Given the description of an element on the screen output the (x, y) to click on. 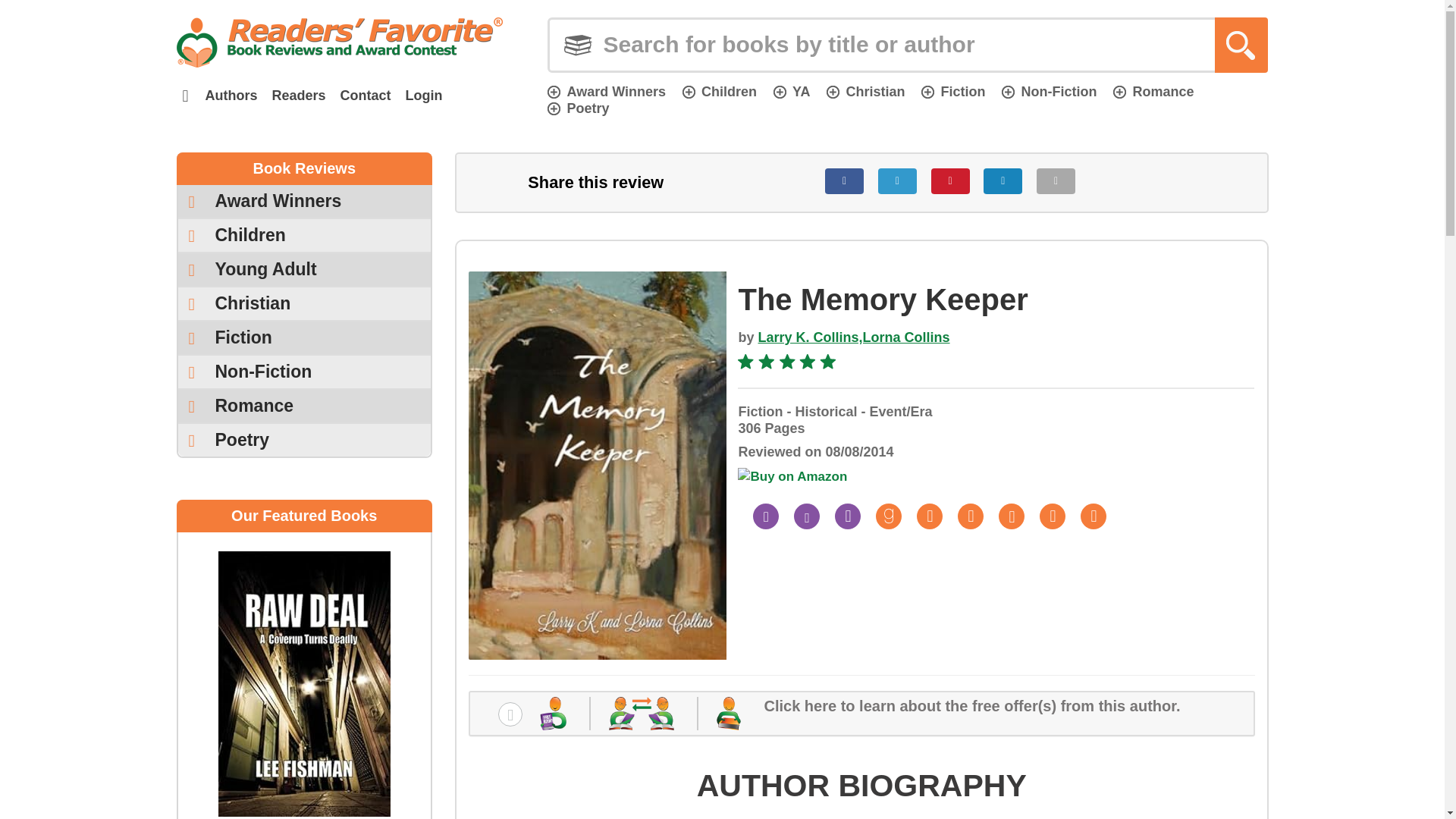
Poetry (577, 108)
Award Winners (606, 91)
Authors (230, 96)
Award Winners (303, 202)
Non-Fiction (1048, 91)
Login (423, 96)
YA (791, 91)
Fiction (953, 91)
Christian (865, 91)
Children (719, 91)
